Given the description of an element on the screen output the (x, y) to click on. 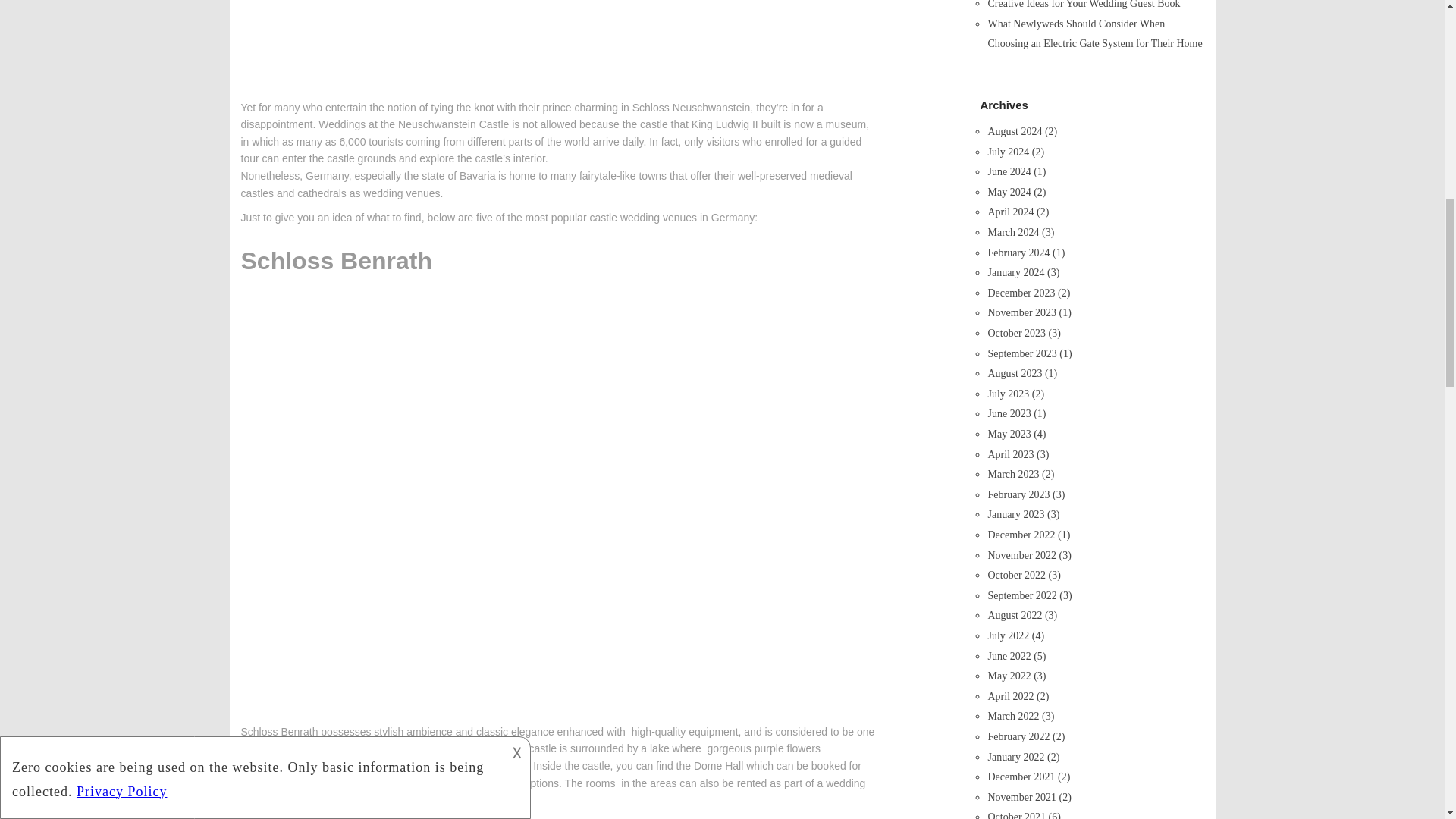
June 2024 (1008, 171)
August 2024 (1014, 131)
February 2024 (1018, 252)
Creative Ideas for Your Wedding Guest Book (1083, 4)
July 2024 (1008, 152)
May 2024 (1008, 192)
December 2023 (1020, 292)
November 2023 (1022, 312)
January 2024 (1015, 272)
